Given the description of an element on the screen output the (x, y) to click on. 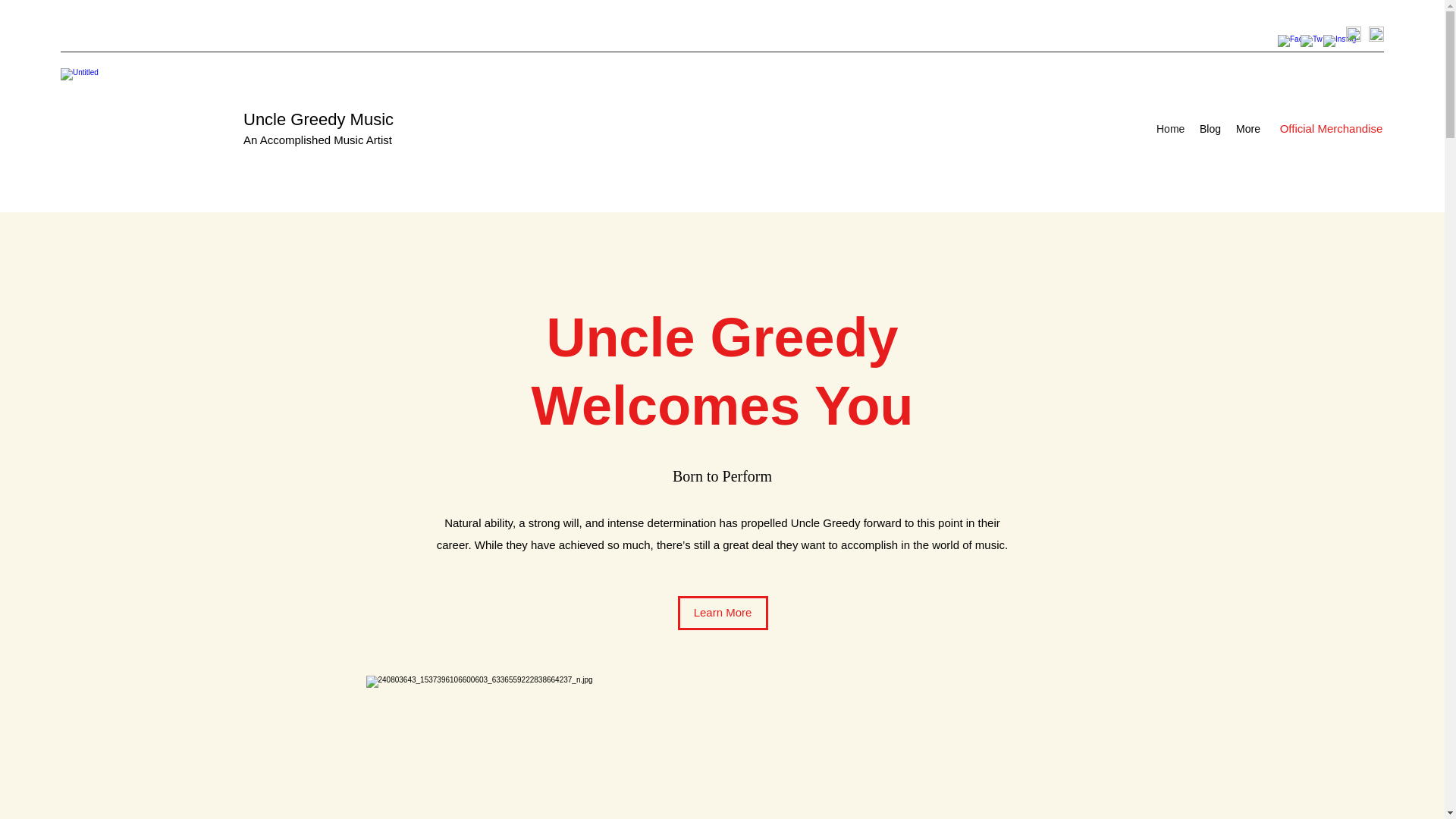
Official Merchandise (1331, 128)
Home (1170, 128)
Blog (1210, 128)
Uncle Greedy Music (318, 118)
